Given the description of an element on the screen output the (x, y) to click on. 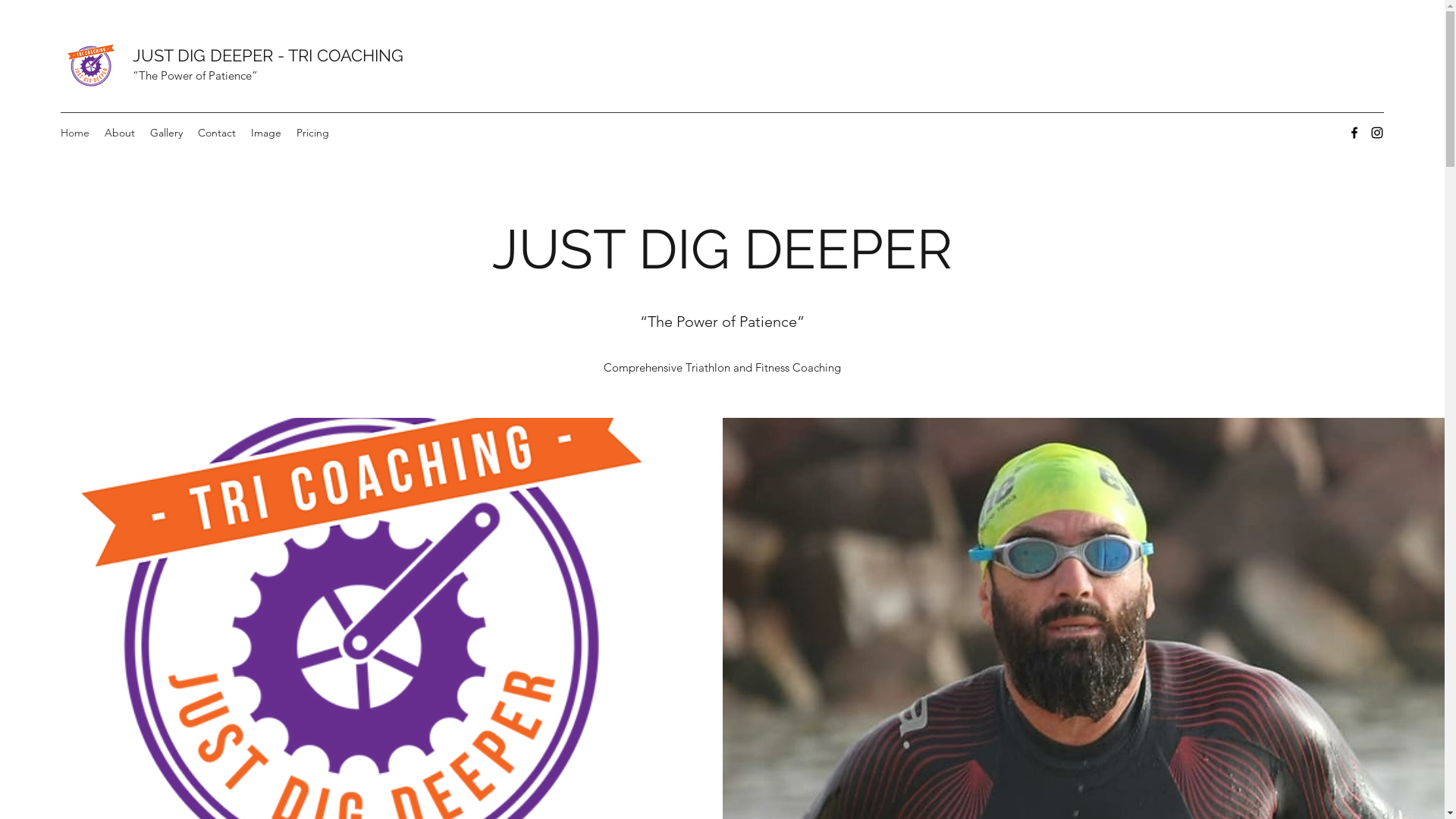
About Element type: text (119, 132)
Pricing Element type: text (312, 132)
JUST DIG DEEPER - TRI COACHING Element type: text (267, 55)
Home Element type: text (75, 132)
Contact Element type: text (216, 132)
Gallery Element type: text (166, 132)
Image Element type: text (265, 132)
